Given the description of an element on the screen output the (x, y) to click on. 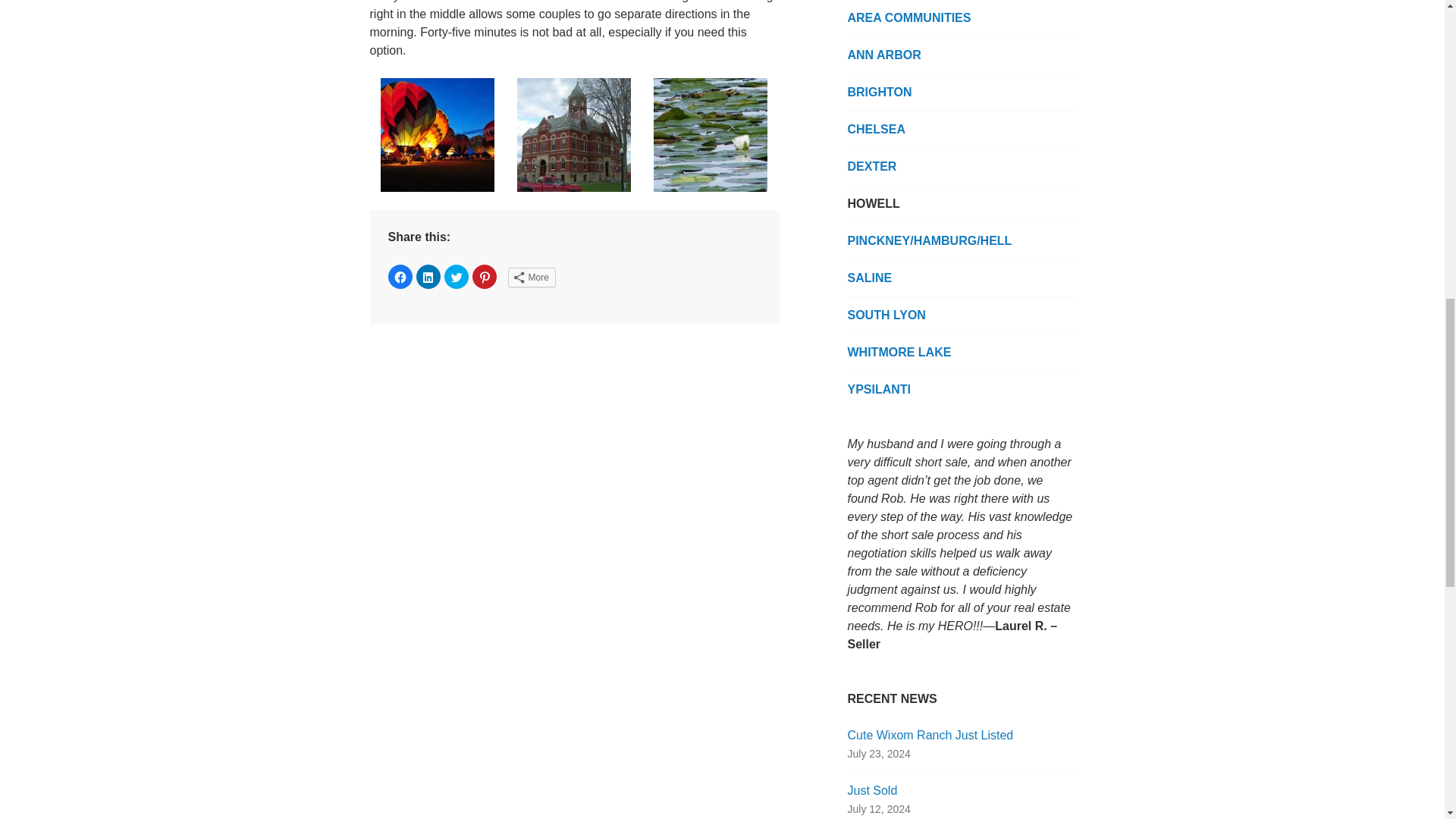
Click to share on LinkedIn (426, 276)
Click to share on Pinterest (483, 276)
Click to share on Facebook (400, 276)
Click to share on Twitter (456, 276)
